Given the description of an element on the screen output the (x, y) to click on. 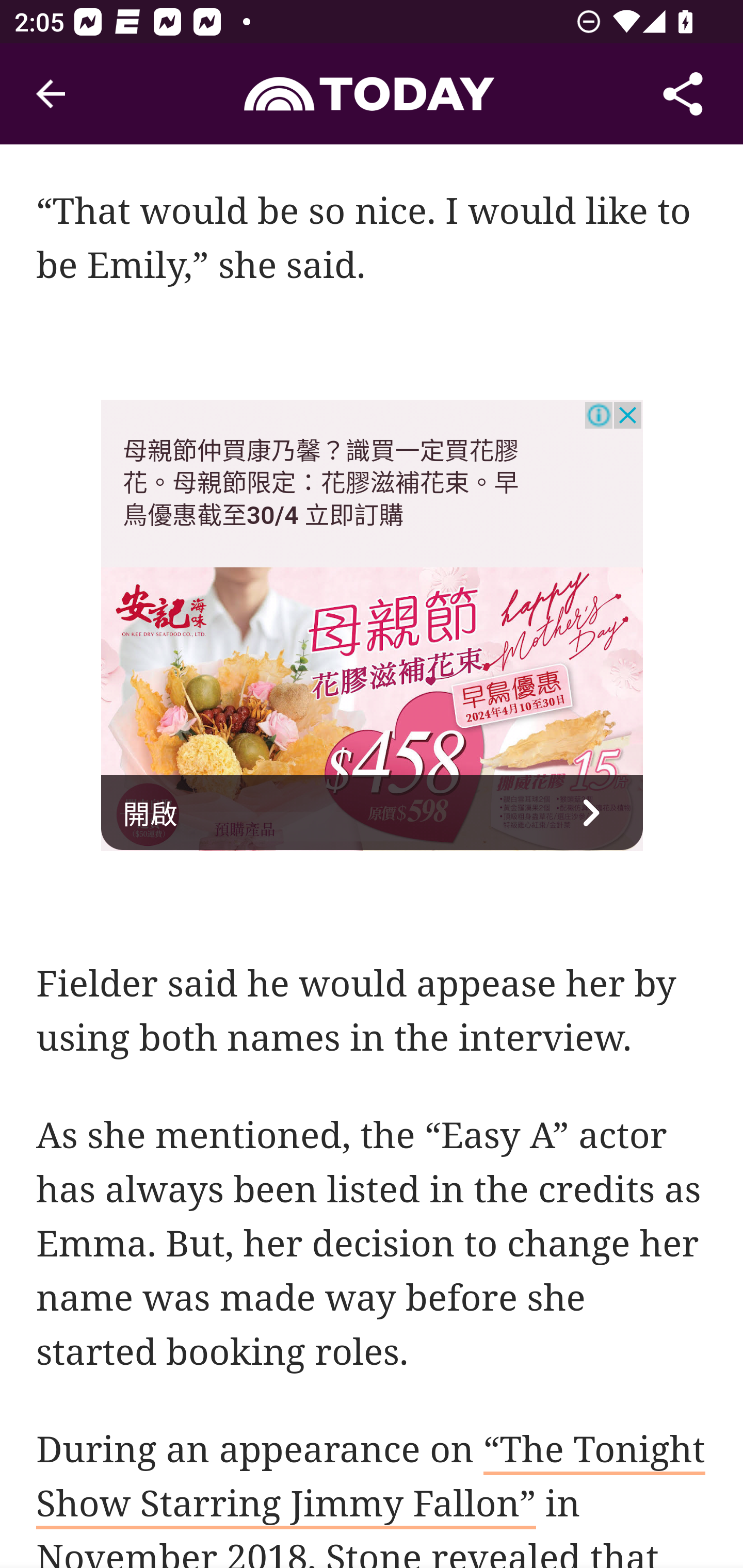
Navigate up (50, 93)
Share Article, button (683, 94)
Header, Today (371, 93)
開啟 (372, 813)
“The Tonight Show Starring Jimmy Fallon” (370, 1480)
